Given the description of an element on the screen output the (x, y) to click on. 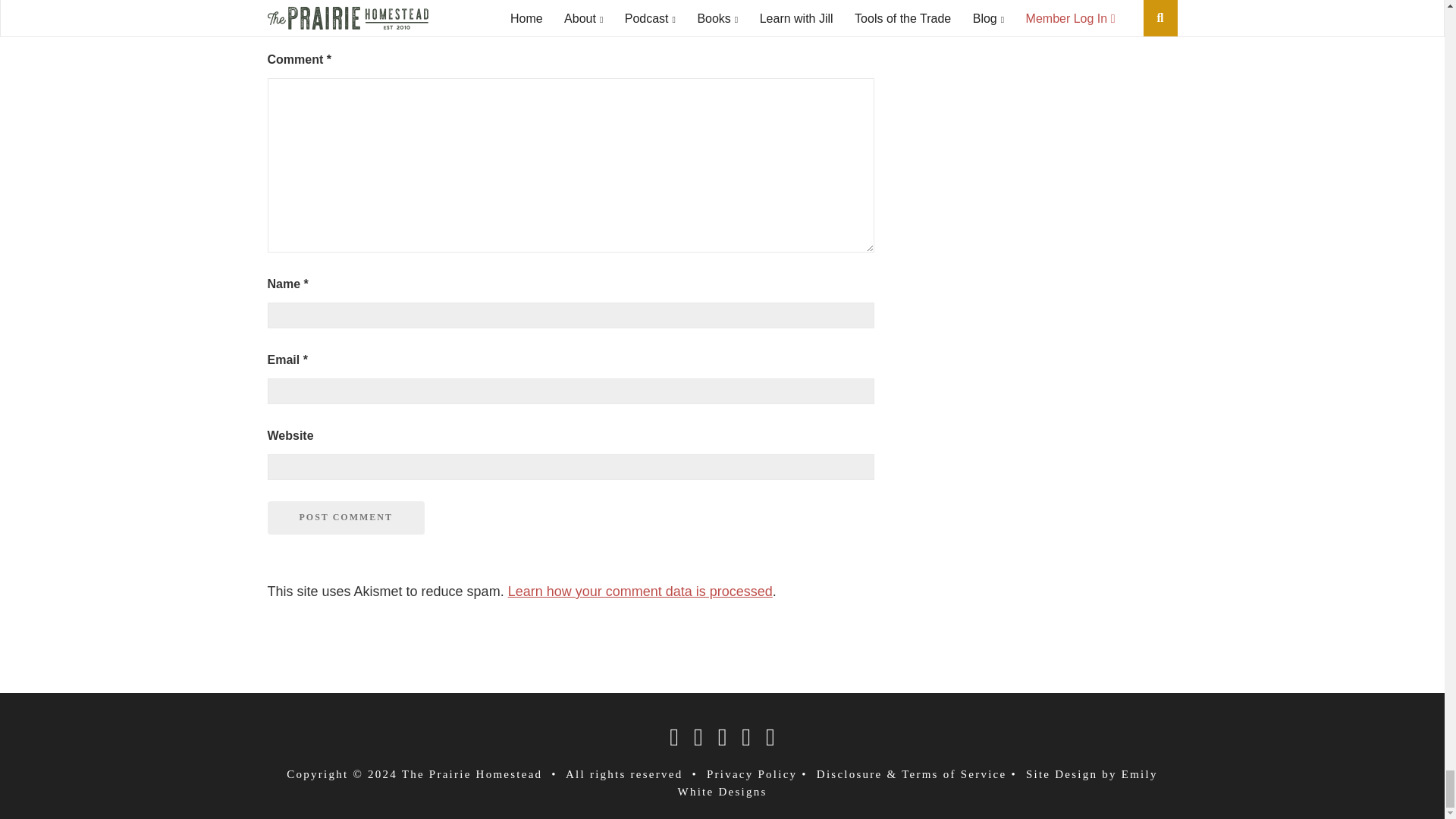
Post Comment (344, 517)
privay policy (751, 774)
Emily White Designs (917, 782)
